Given the description of an element on the screen output the (x, y) to click on. 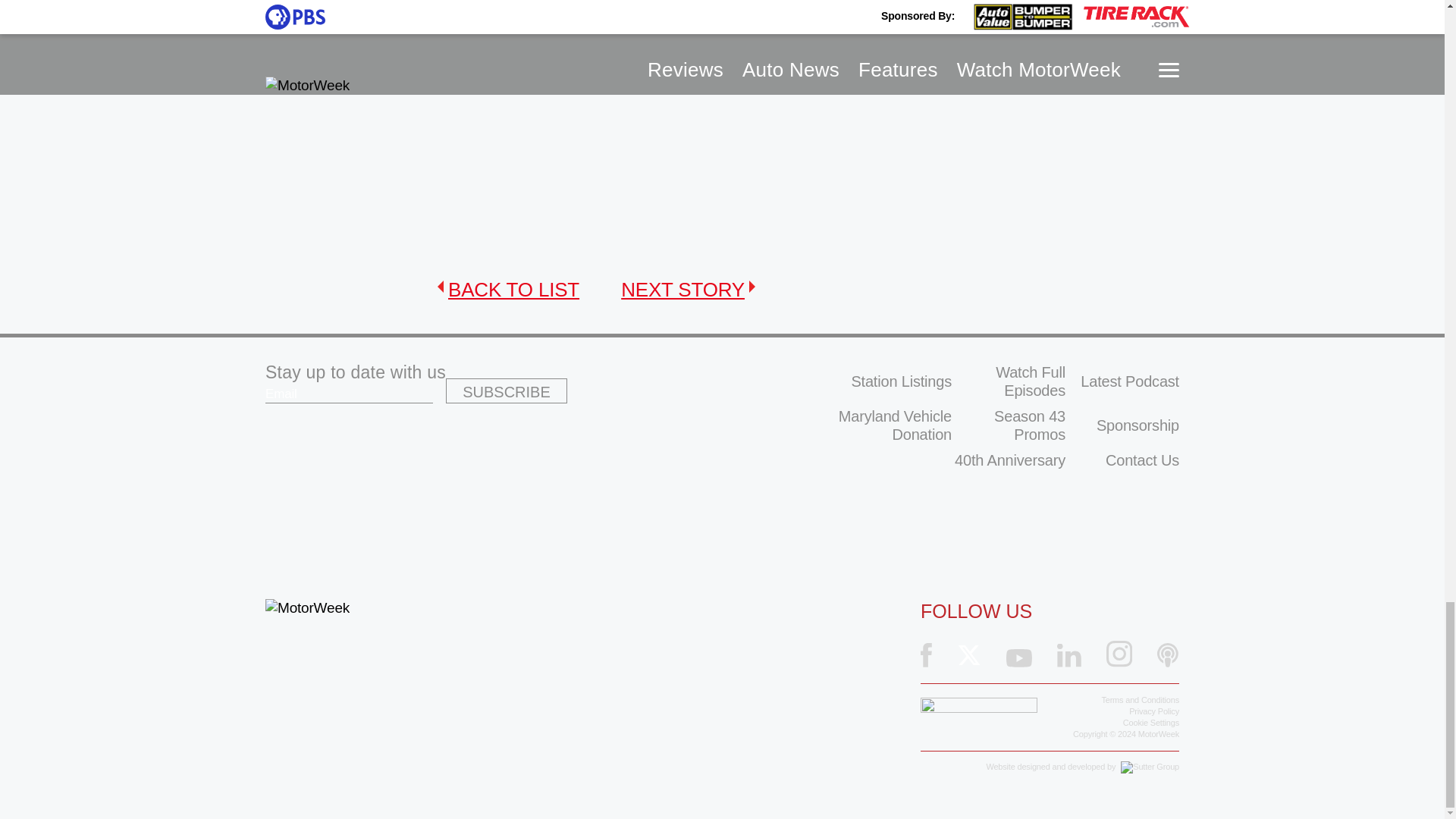
MotorWeek (306, 607)
BACK TO LIST (507, 289)
Subscribe (506, 390)
Sutter Group (1150, 767)
